Given the description of an element on the screen output the (x, y) to click on. 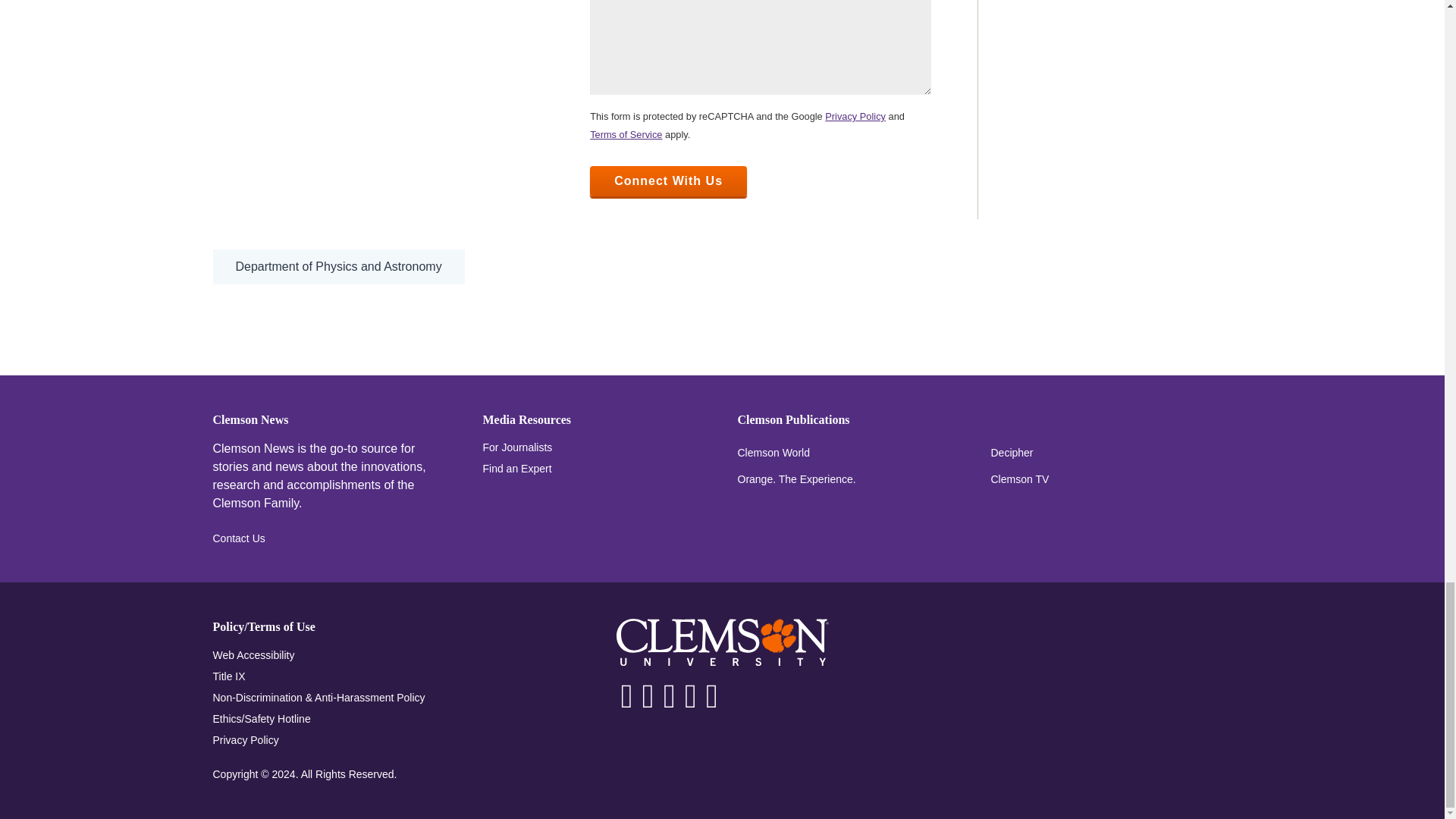
Connect With Us (667, 181)
Clemson University (721, 642)
